Given the description of an element on the screen output the (x, y) to click on. 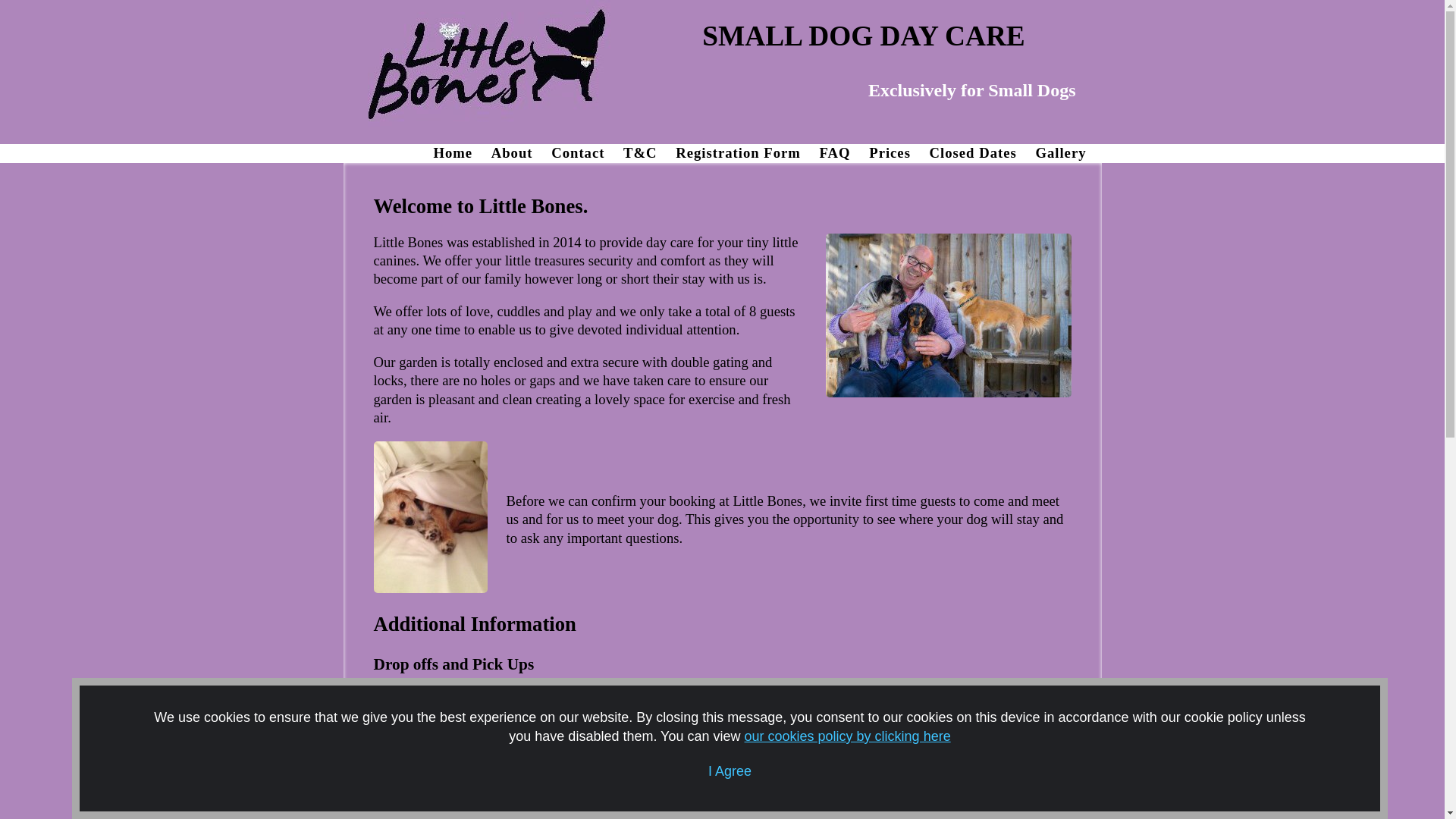
Home (459, 152)
About (520, 152)
FAQ (842, 152)
Contact (585, 152)
I Agree (729, 770)
Prices (897, 152)
About Cookies Warning (729, 748)
Gallery (1067, 152)
Closed Dates (981, 152)
Registration Form (745, 152)
